Given the description of an element on the screen output the (x, y) to click on. 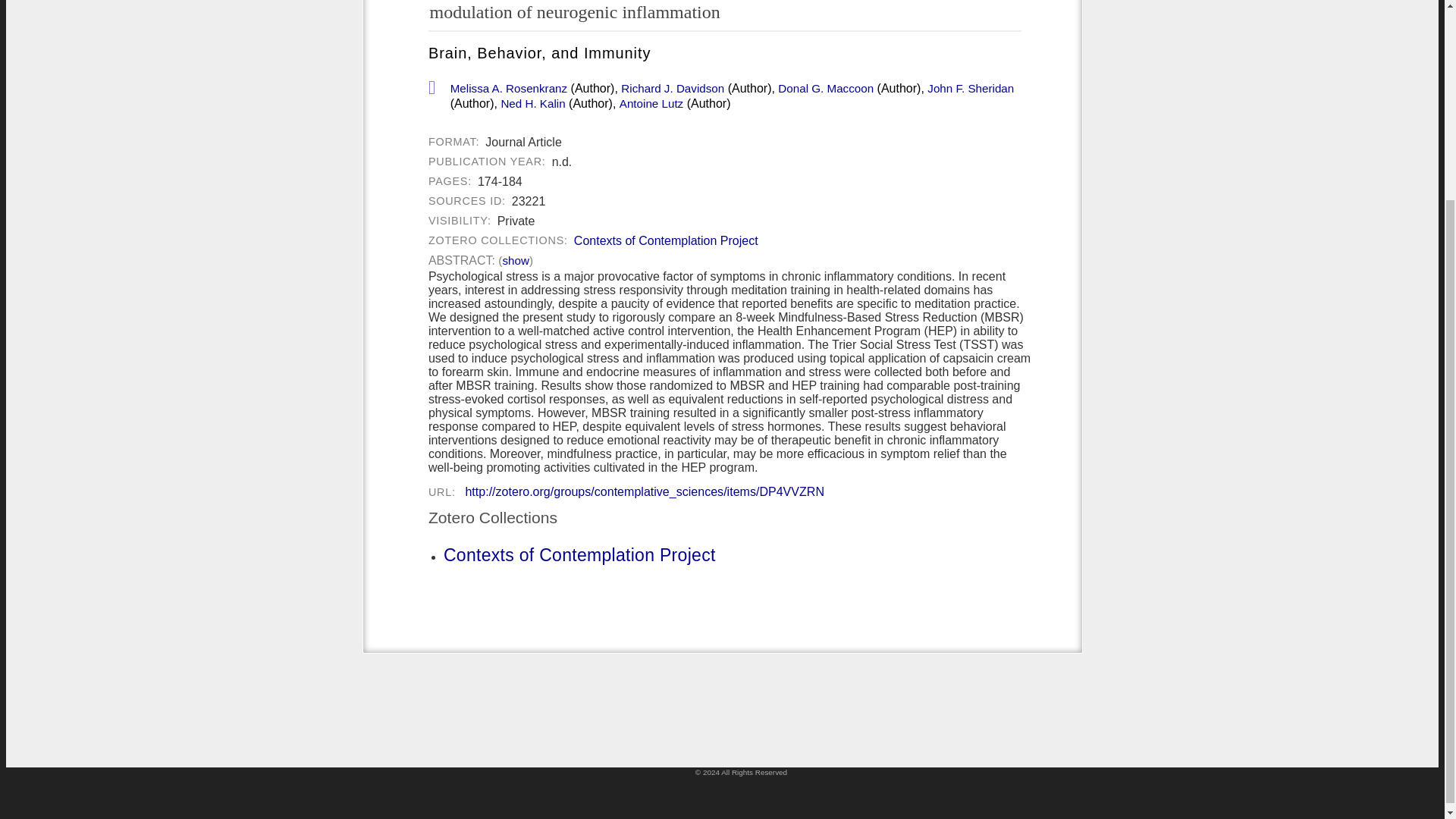
Ned H. Kalin (532, 103)
Donal G. Maccoon (825, 88)
show (515, 260)
Antoine Lutz (651, 103)
Contexts of Contemplation Project (580, 555)
Richard J. Davidson (672, 88)
Melissa A. Rosenkranz (508, 88)
Contexts of Contemplation Project (665, 241)
John F. Sheridan (970, 88)
